Given the description of an element on the screen output the (x, y) to click on. 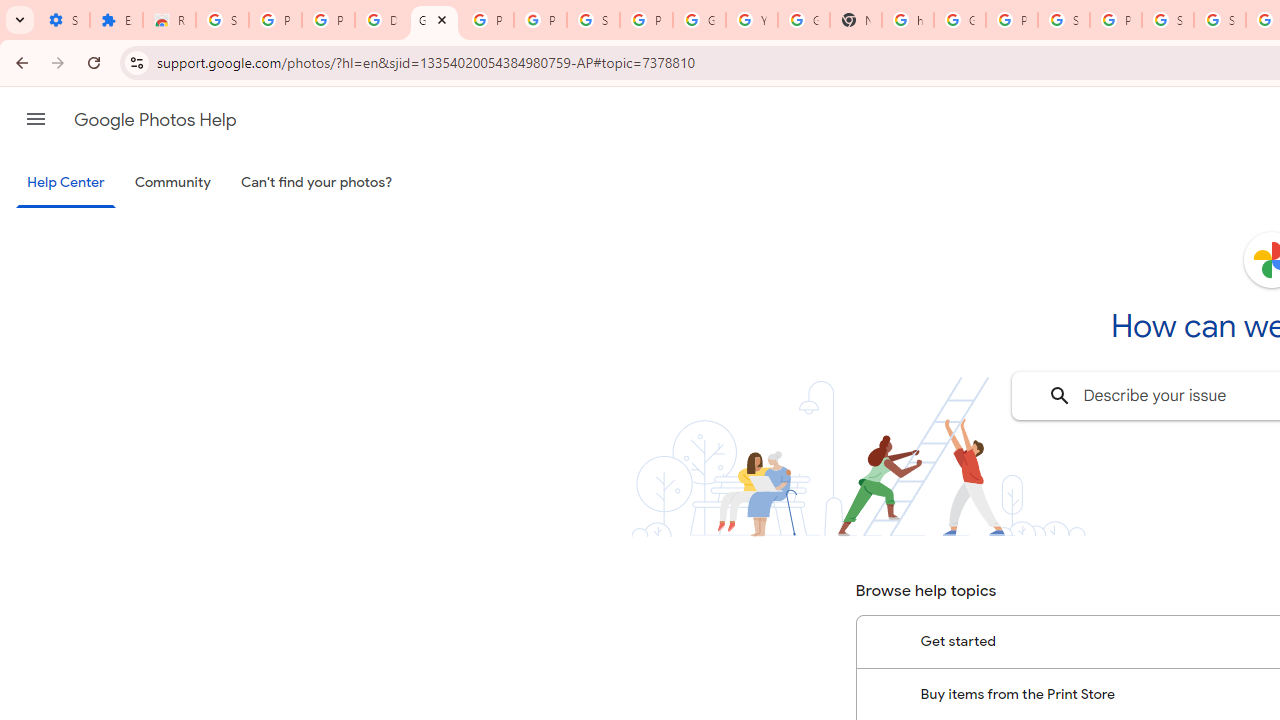
Delete photos & videos - Computer - Google Photos Help (381, 20)
https://scholar.google.com/ (907, 20)
Google Photos Help (155, 119)
Sign in - Google Accounts (222, 20)
Main menu (35, 119)
Sign in - Google Accounts (1064, 20)
